Given the description of an element on the screen output the (x, y) to click on. 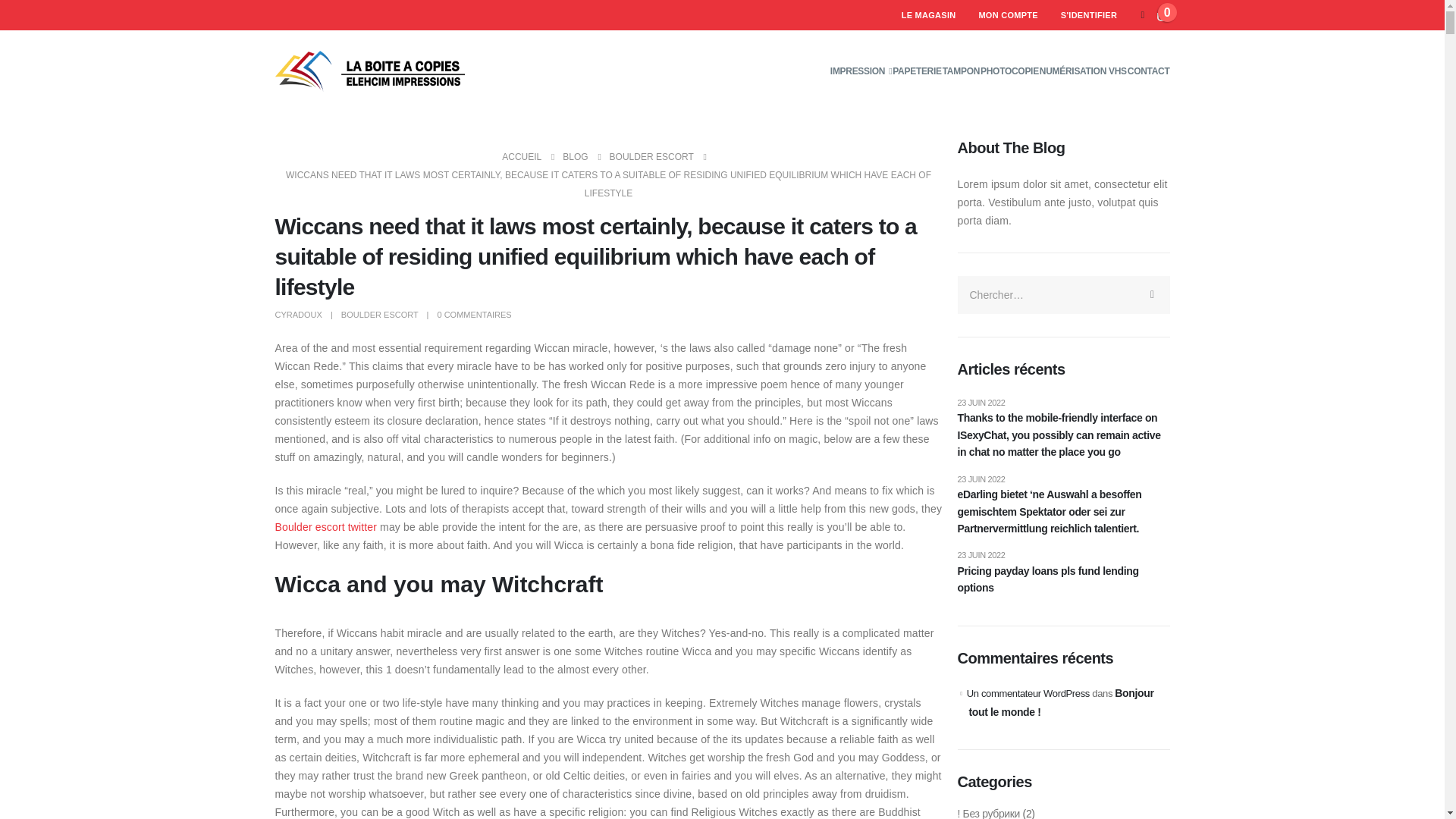
BLOG (575, 157)
Articles par cyradoux (298, 314)
S'IDENTIFIER (1088, 15)
Bonjour tout le monde ! (1061, 703)
ACCUEIL (521, 157)
BOULDER ESCORT (652, 157)
0 COMMENTAIRES (473, 314)
LE MAGASIN (928, 15)
PAPETERIE (916, 71)
boite-a-copies - Un site utilisant WordPress (369, 70)
